Given the description of an element on the screen output the (x, y) to click on. 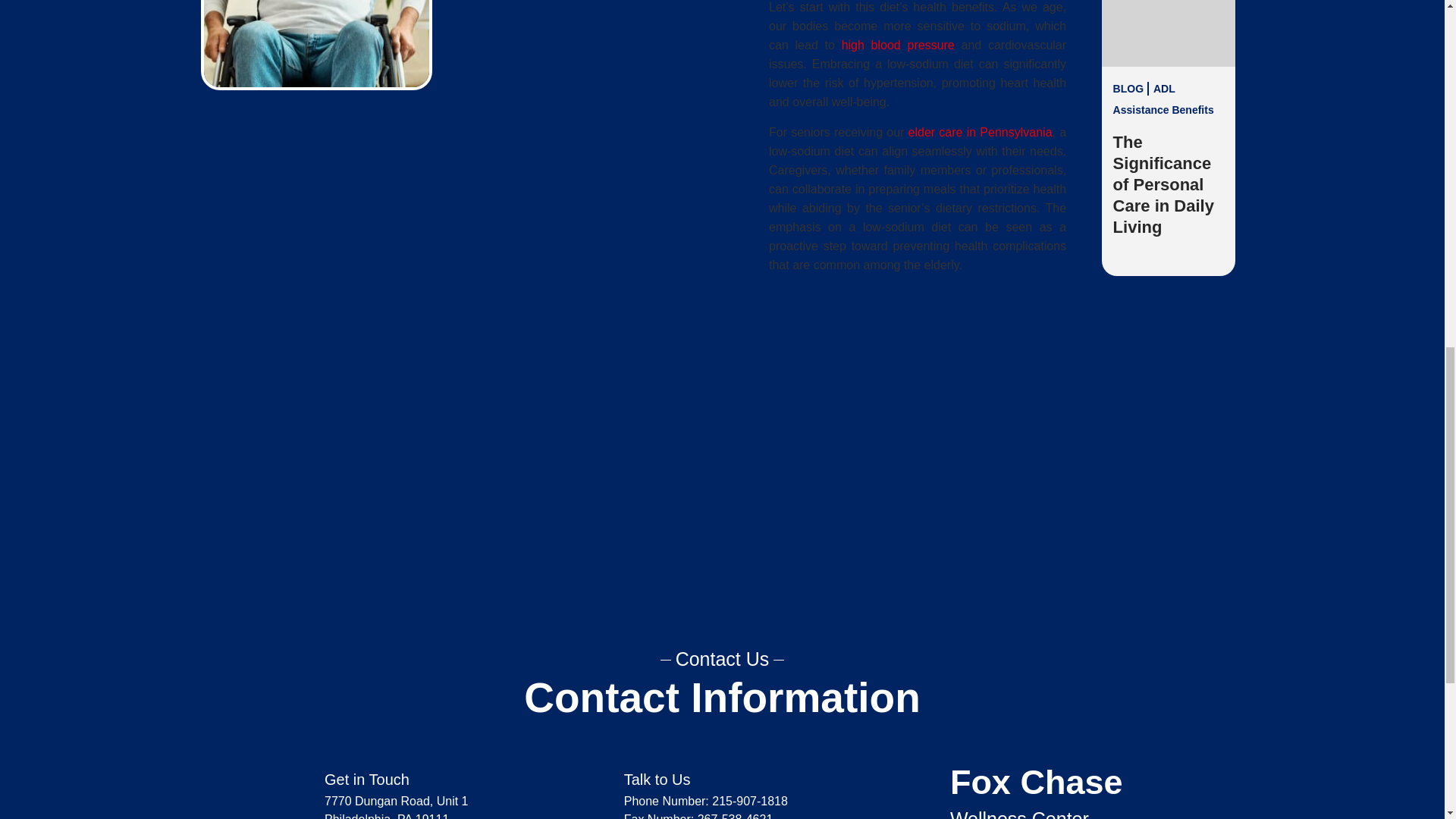
BLOG (1131, 88)
high blood pressure (898, 44)
BLOG (1131, 502)
Travel Tips for Individuals With Mobility Challenges (1165, 598)
elder care in Pennsylvania (980, 132)
The Significance of Personal Care in Daily Living (1163, 184)
Mobility Challenges (1153, 512)
ADL Assistance Benefits (1163, 99)
